Given the description of an element on the screen output the (x, y) to click on. 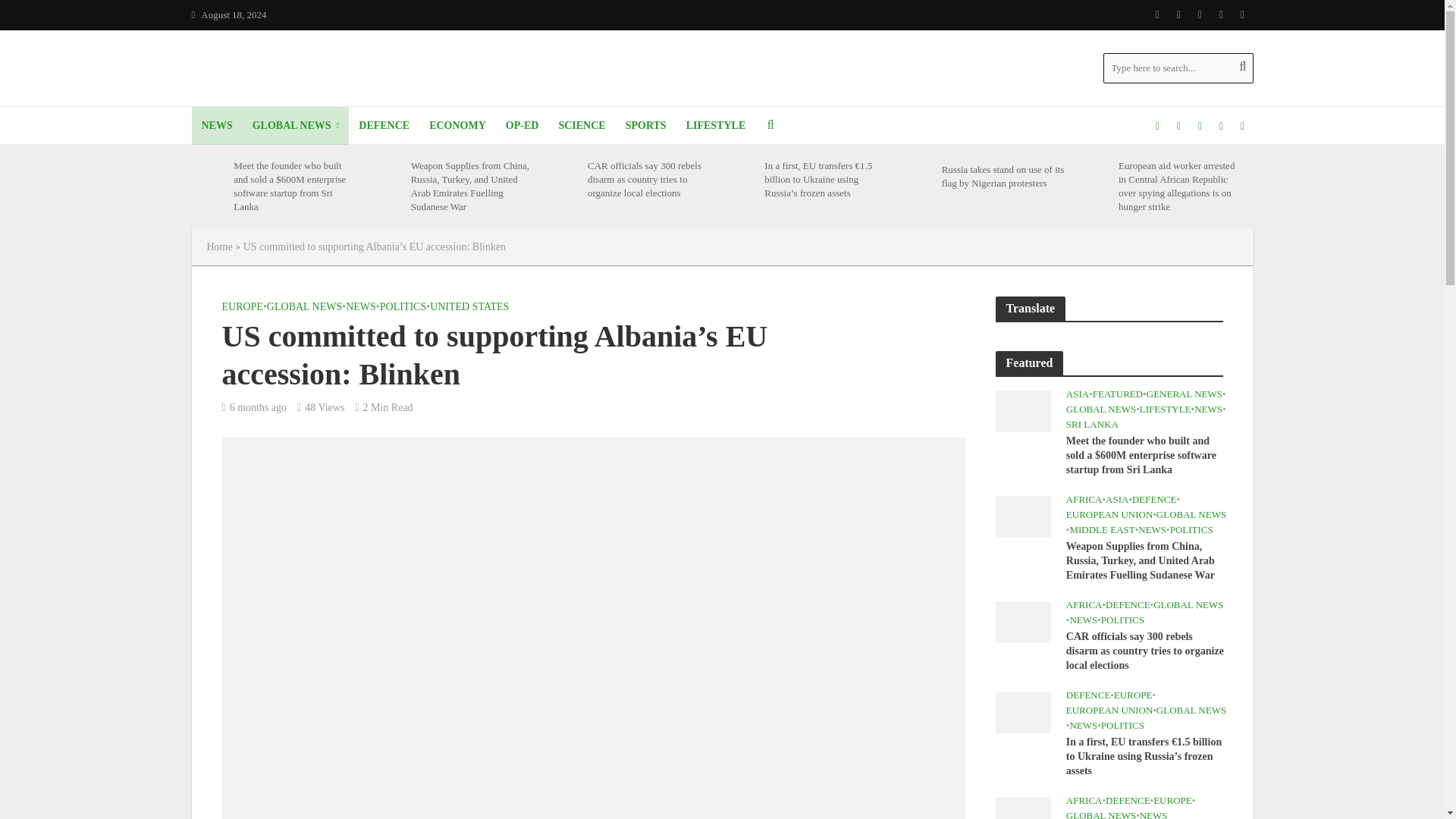
Russia takes stand on use of its flag by Nigerian protesters (916, 176)
NEWS (215, 125)
GLOBAL NEWS (296, 125)
